Given the description of an element on the screen output the (x, y) to click on. 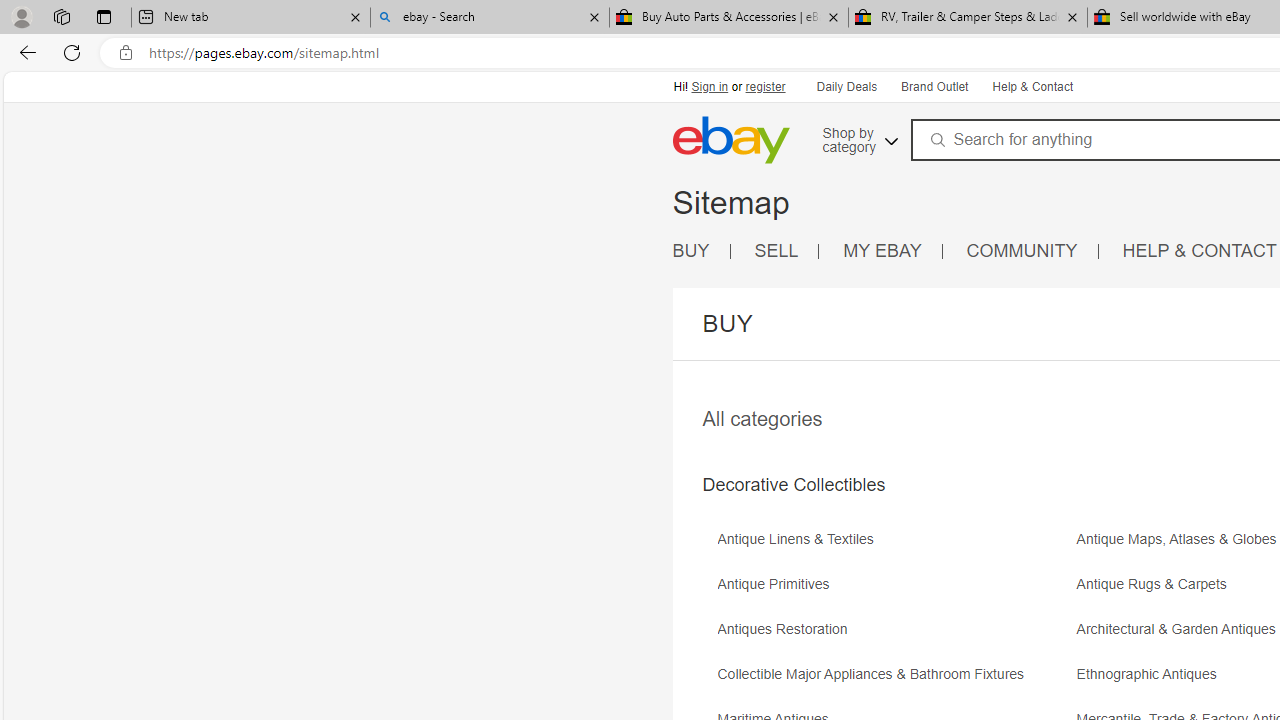
Collectible Major Appliances & Bathroom Fixtures (894, 681)
Daily Deals (846, 86)
Collectible Major Appliances & Bathroom Fixtures (875, 673)
Antique Primitives (777, 583)
All categories (762, 418)
View site information (125, 53)
eBay Logo (797, 169)
RV, Trailer & Camper Steps & Ladders for sale | eBay (967, 17)
Antiques Restoration (786, 629)
Workspaces (61, 16)
Tab actions menu (104, 16)
Brand Outlet (934, 88)
Brand Outlet (933, 86)
Personal Profile (21, 16)
